Given the description of an element on the screen output the (x, y) to click on. 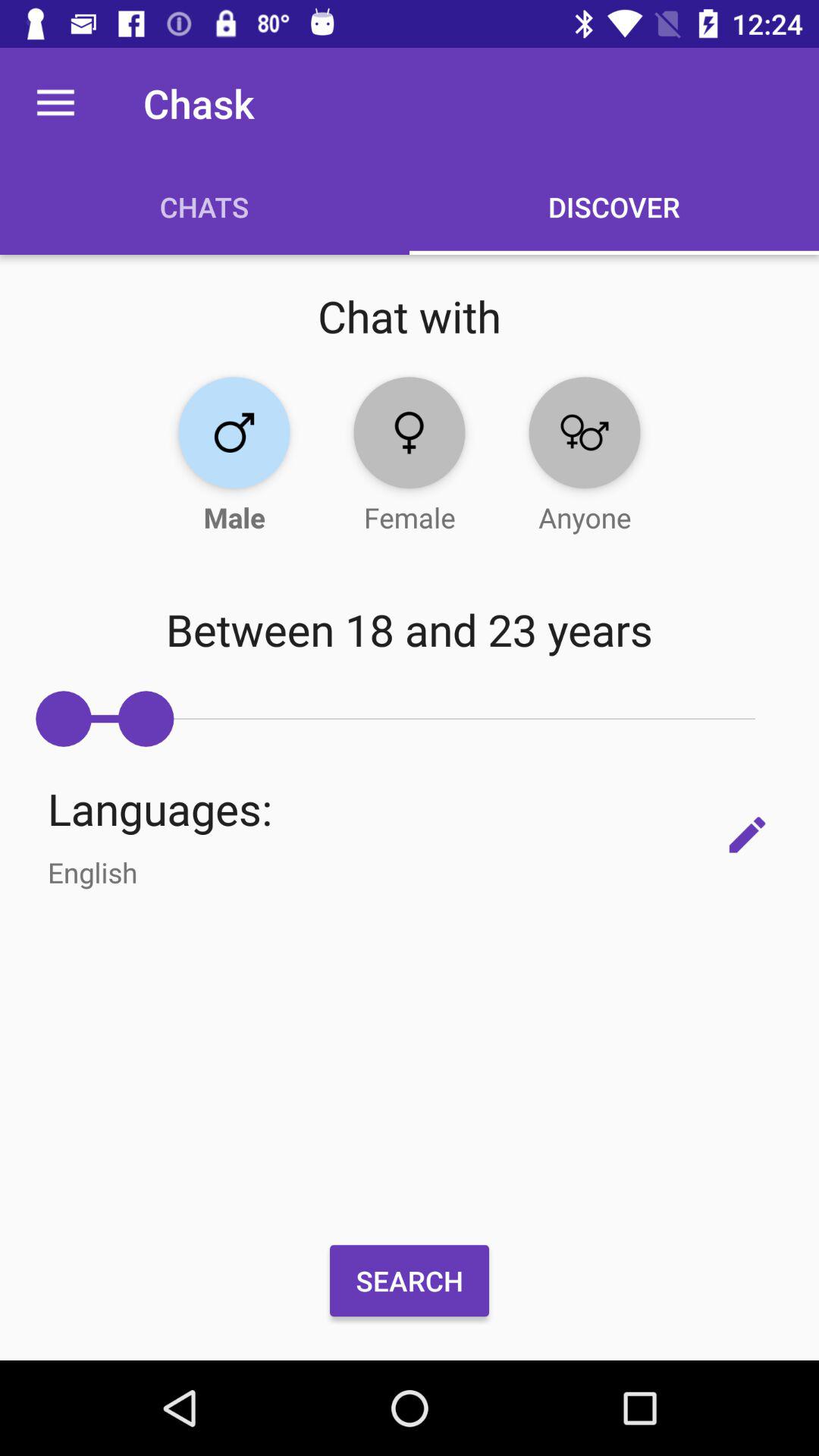
sex of user (234, 432)
